Given the description of an element on the screen output the (x, y) to click on. 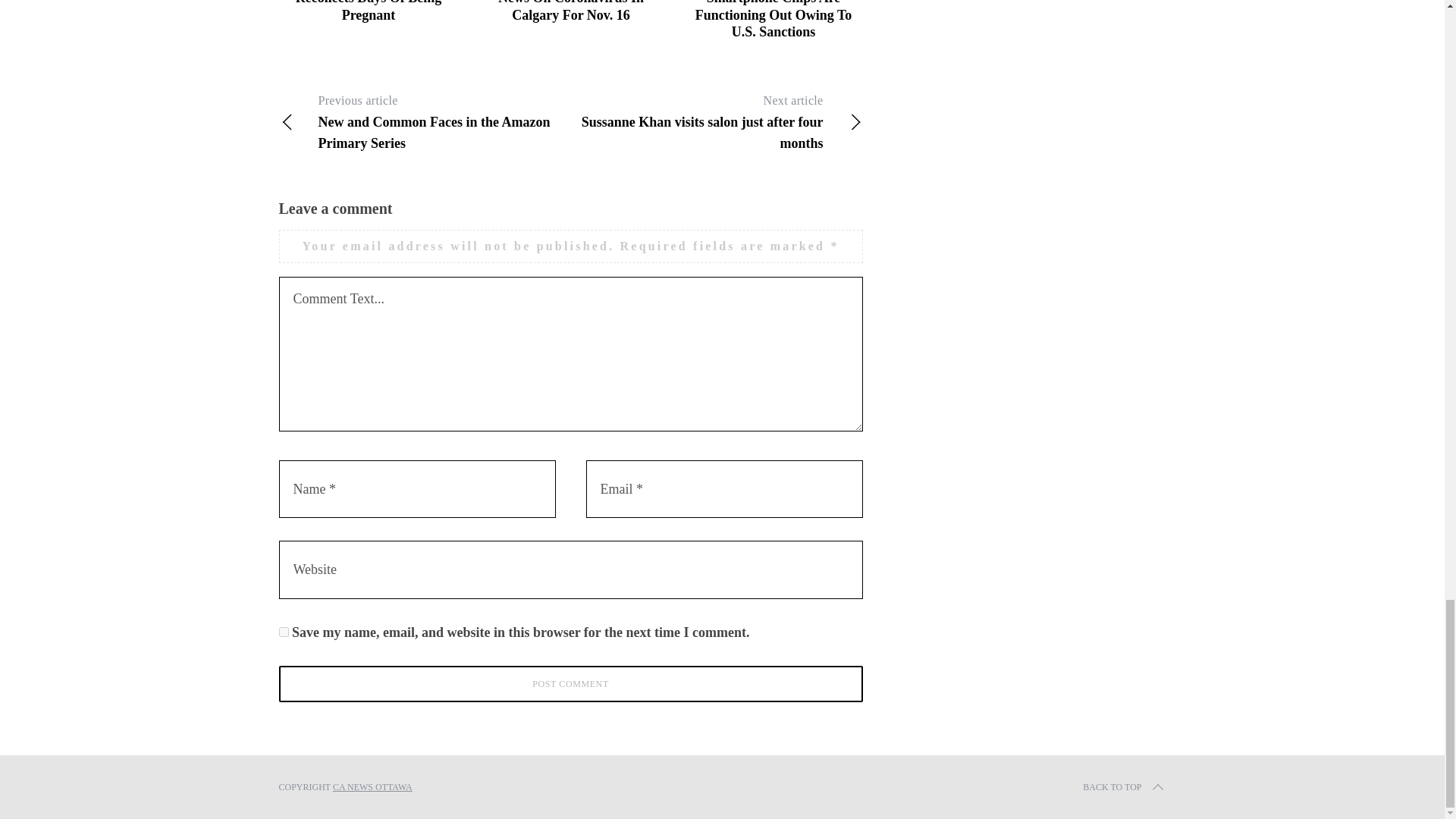
Post Comment (571, 683)
yes (283, 632)
